Given the description of an element on the screen output the (x, y) to click on. 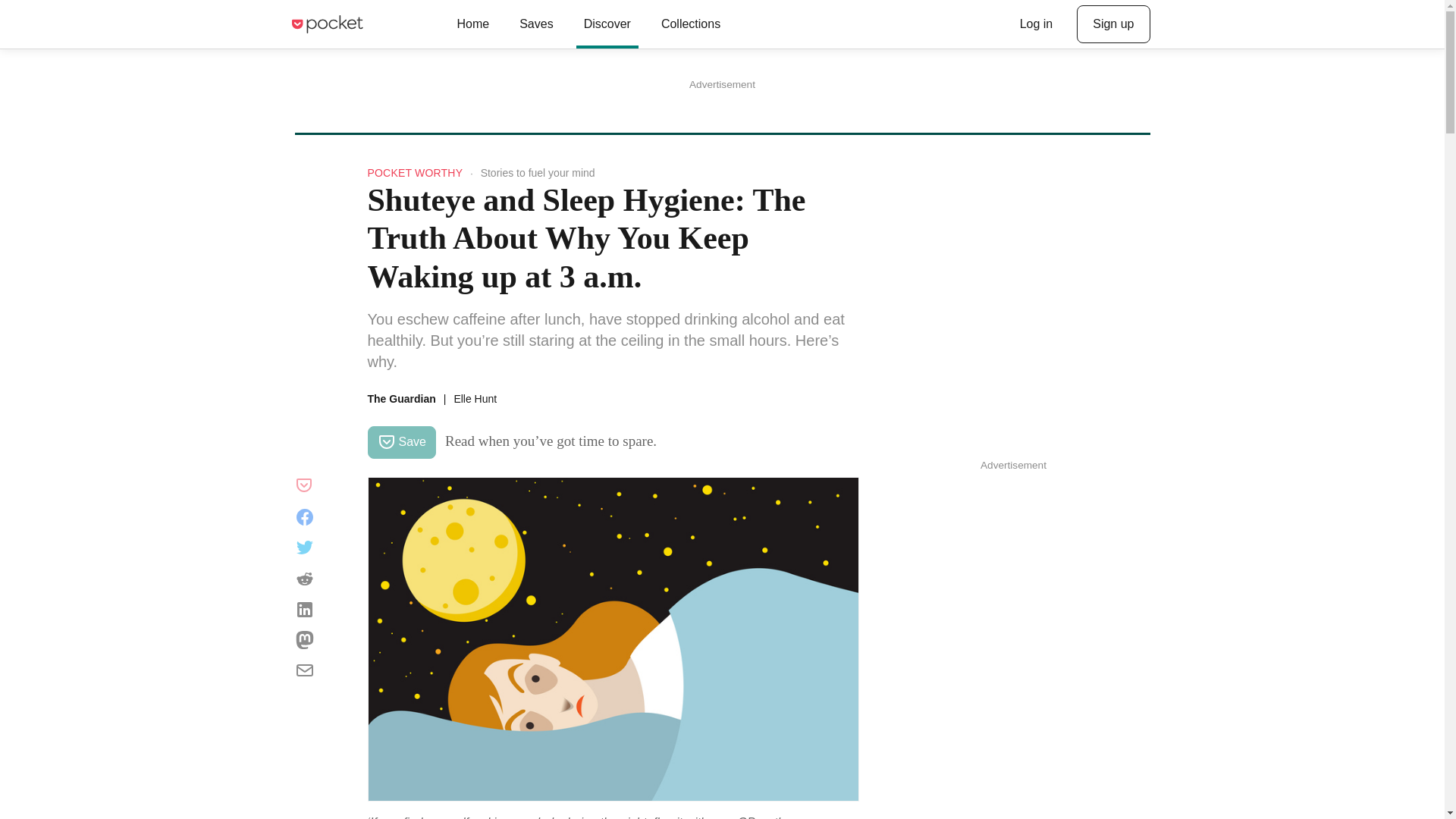
Collections (690, 24)
Pocket (326, 24)
The Guardian (400, 398)
Discover (607, 24)
Saves (535, 24)
Sign up (1113, 23)
Log in (1036, 24)
Save (400, 441)
Home (472, 24)
